Given the description of an element on the screen output the (x, y) to click on. 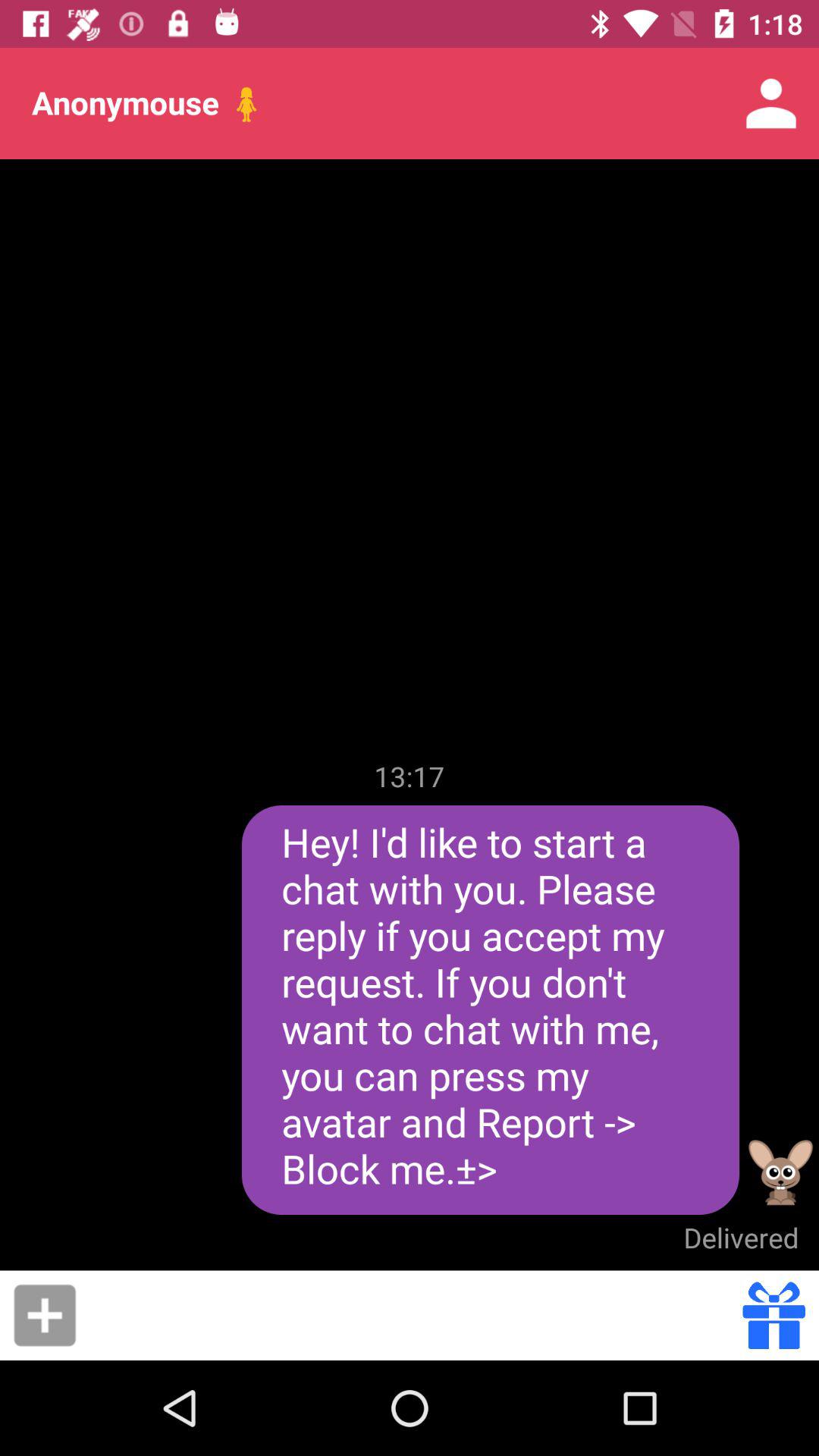
select item below delivered icon (774, 1315)
